Given the description of an element on the screen output the (x, y) to click on. 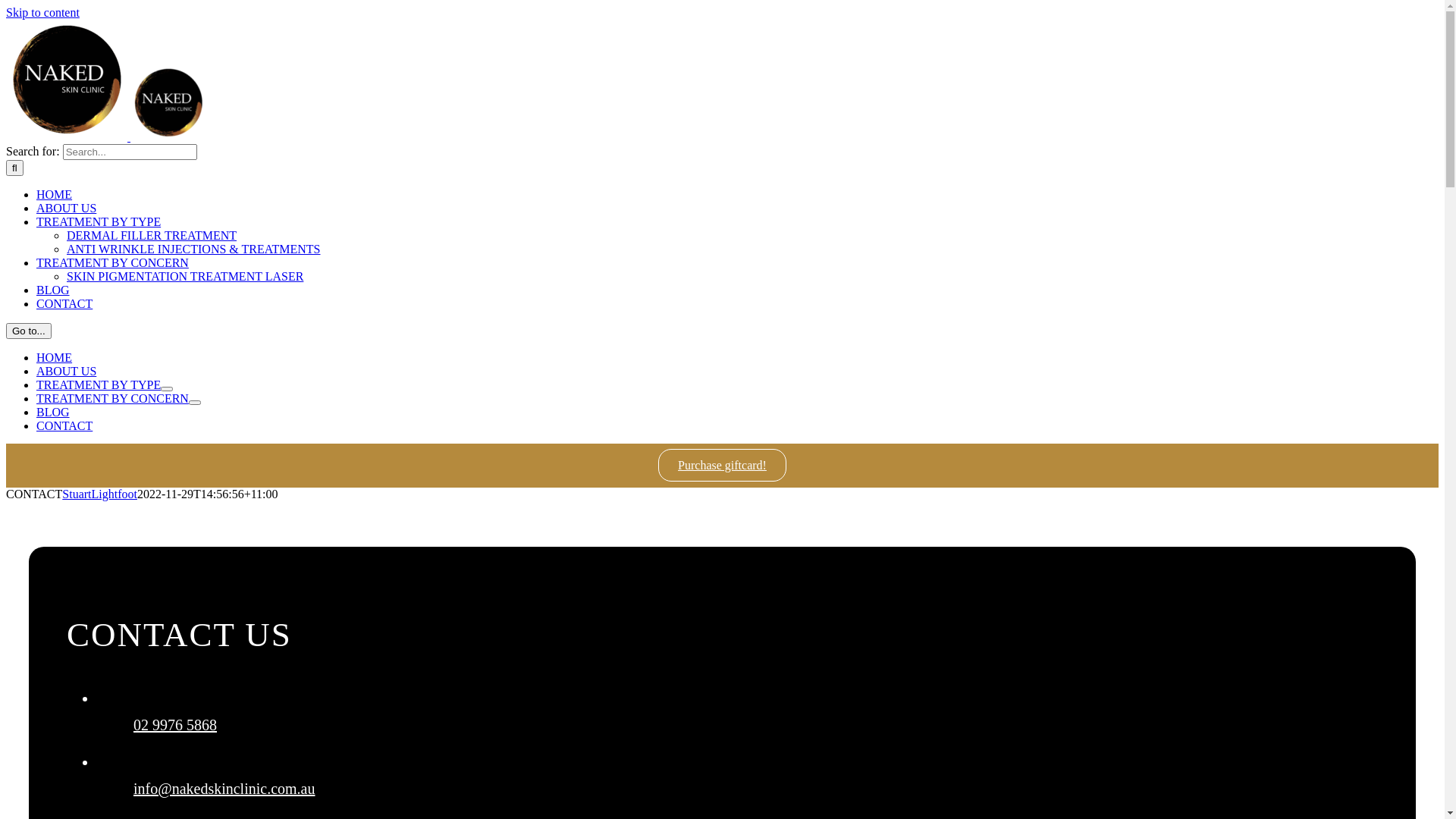
ABOUT US Element type: text (66, 207)
ANTI WRINKLE INJECTIONS & TREATMENTS Element type: text (193, 248)
Purchase giftcard! Element type: text (722, 464)
HOME Element type: text (54, 194)
TREATMENT BY TYPE Element type: text (98, 221)
Go to... Element type: text (28, 330)
TREATMENT BY CONCERN Element type: text (112, 262)
DERMAL FILLER TREATMENT Element type: text (151, 235)
info@nakedskinclinic.com.au Element type: text (223, 788)
SKIN PIGMENTATION TREATMENT LASER Element type: text (184, 275)
TREATMENT BY TYPE Element type: text (98, 384)
ABOUT US Element type: text (66, 370)
BLOG Element type: text (52, 411)
BLOG Element type: text (52, 289)
StuartLightfoot Element type: text (99, 493)
02 9976 5868 Element type: text (174, 724)
HOME Element type: text (54, 357)
TREATMENT BY CONCERN Element type: text (112, 398)
CONTACT Element type: text (64, 425)
CONTACT Element type: text (64, 303)
Skip to content Element type: text (42, 12)
